Given the description of an element on the screen output the (x, y) to click on. 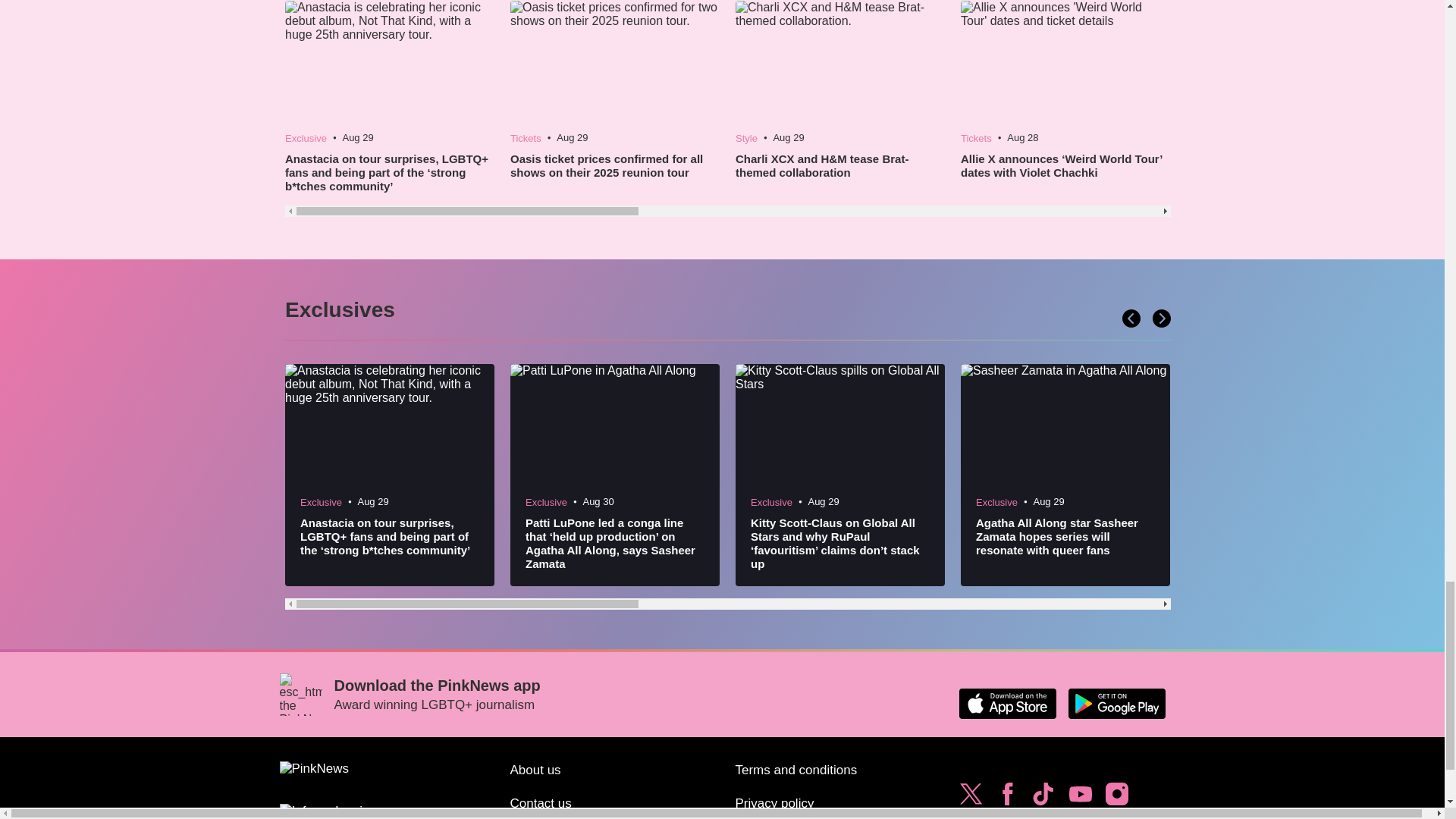
Download the PinkNews app on Google Play (1115, 703)
Follow PinkNews on LinkedIn (1007, 817)
Download the PinkNews app on the Apple App Store (1006, 703)
Subscribe to PinkNews on Snapchat (970, 817)
Follow PinkNews on Instagram (1116, 797)
Subscribe to PinkNews on YouTube (1079, 797)
Follow PinkNews on Twitter (970, 797)
Follow PinkNews on TikTok (1042, 797)
